Given the description of an element on the screen output the (x, y) to click on. 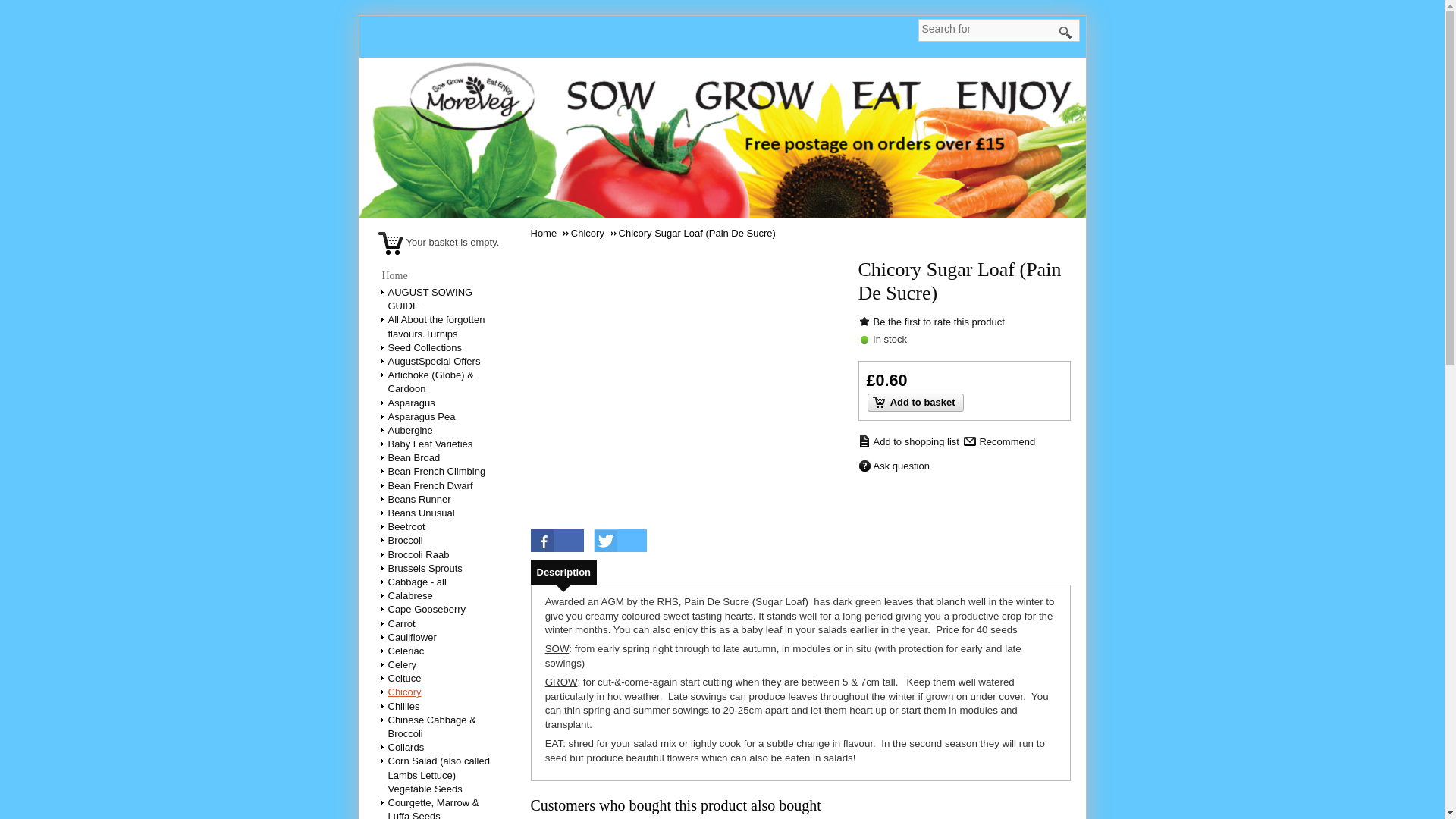
Start search (1065, 32)
Chicory (405, 691)
Bean French Dwarf (431, 485)
Beans Runner (420, 499)
Broccoli Raab (419, 554)
AUGUST SOWING GUIDE (430, 298)
Cape Gooseberry (427, 608)
All About the forgotten flavours.Turnips (436, 325)
Celery (403, 664)
Brussels Sprouts (426, 567)
